Given the description of an element on the screen output the (x, y) to click on. 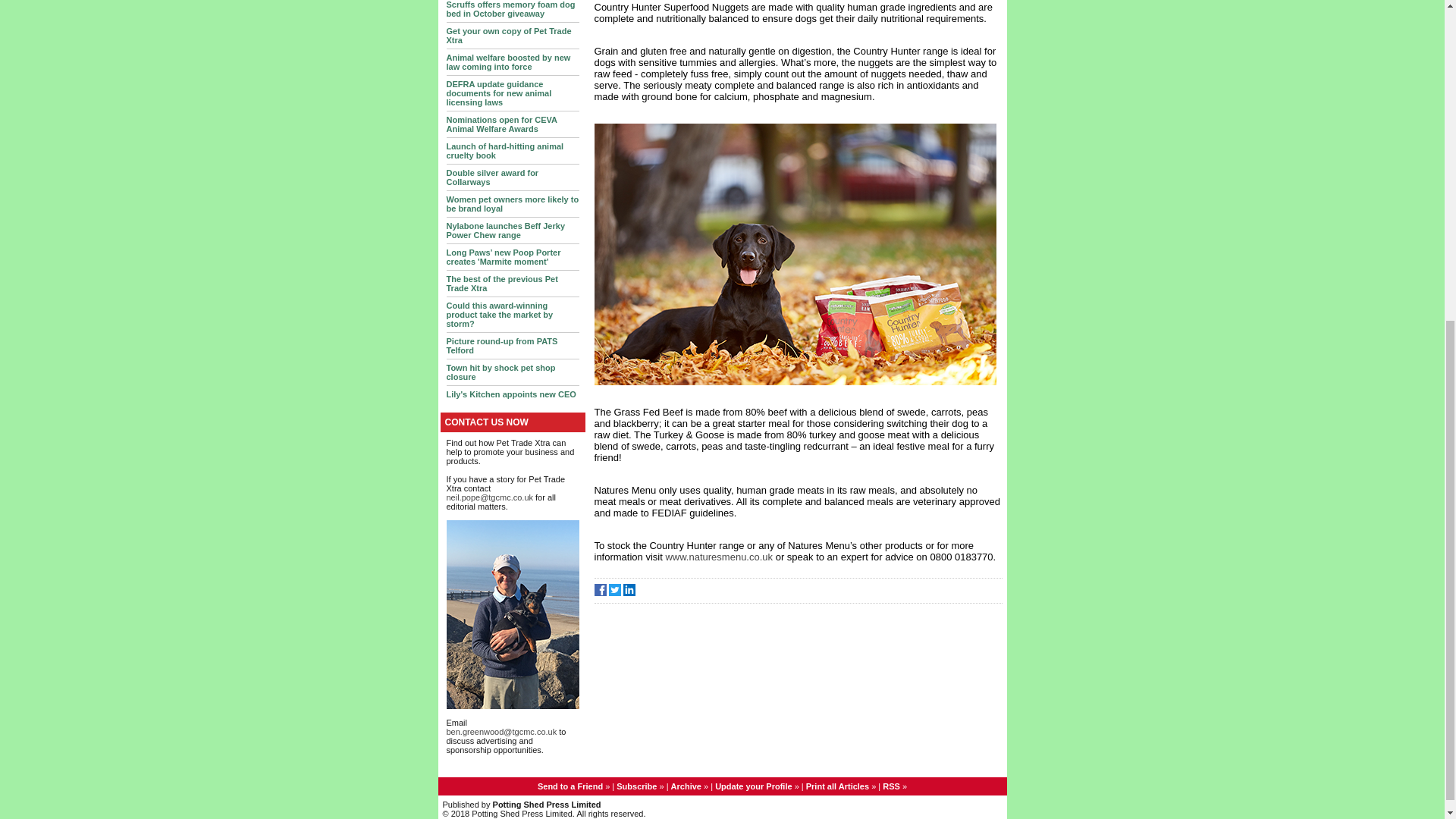
Subscribe (635, 786)
Get your own copy of Pet Trade Xtra (507, 35)
Launch of hard-hitting animal cruelty book (504, 150)
Town hit by shock pet shop closure (499, 372)
Double silver award for Collarways (491, 177)
Send to a Friend (569, 786)
Scruffs offers memory foam dog bed in October giveaway (510, 9)
Nylabone launches Beff Jerky Power Chew range (504, 230)
Lily's Kitchen appoints new CEO (510, 393)
Picture round-up from PATS Telford (501, 345)
The best of the previous Pet Trade Xtra (501, 283)
Animal welfare boosted by new law coming into force (507, 62)
Could this award-winning product take the market by storm? (499, 314)
Nominations open for CEVA Animal Welfare Awards (500, 124)
www.naturesmenu.co.uk  (719, 556)
